Given the description of an element on the screen output the (x, y) to click on. 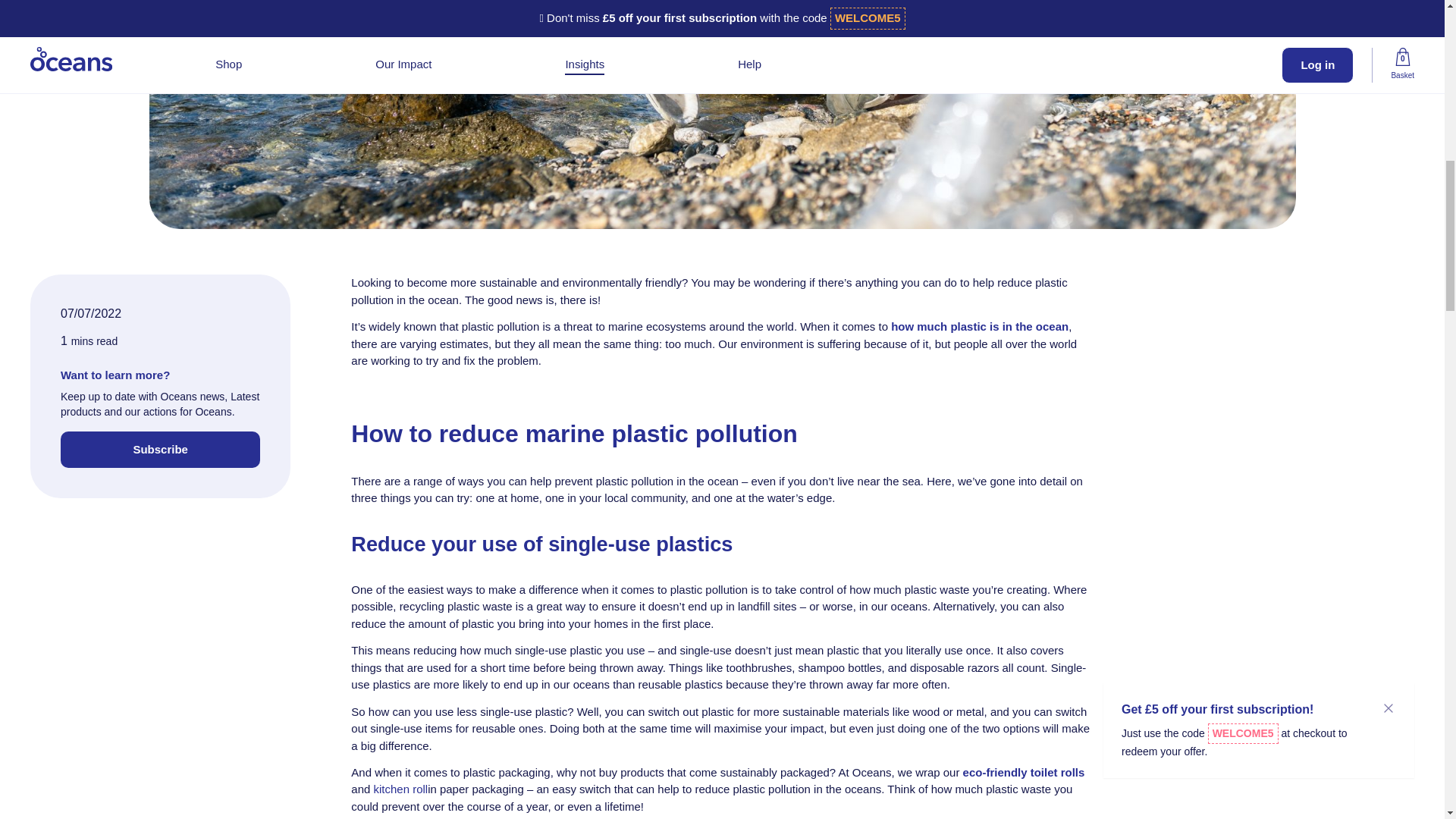
Subscribe (160, 449)
eco-friendly toilet rolls (1023, 771)
how much plastic is in the ocean (979, 326)
kitchen roll (400, 788)
